Given the description of an element on the screen output the (x, y) to click on. 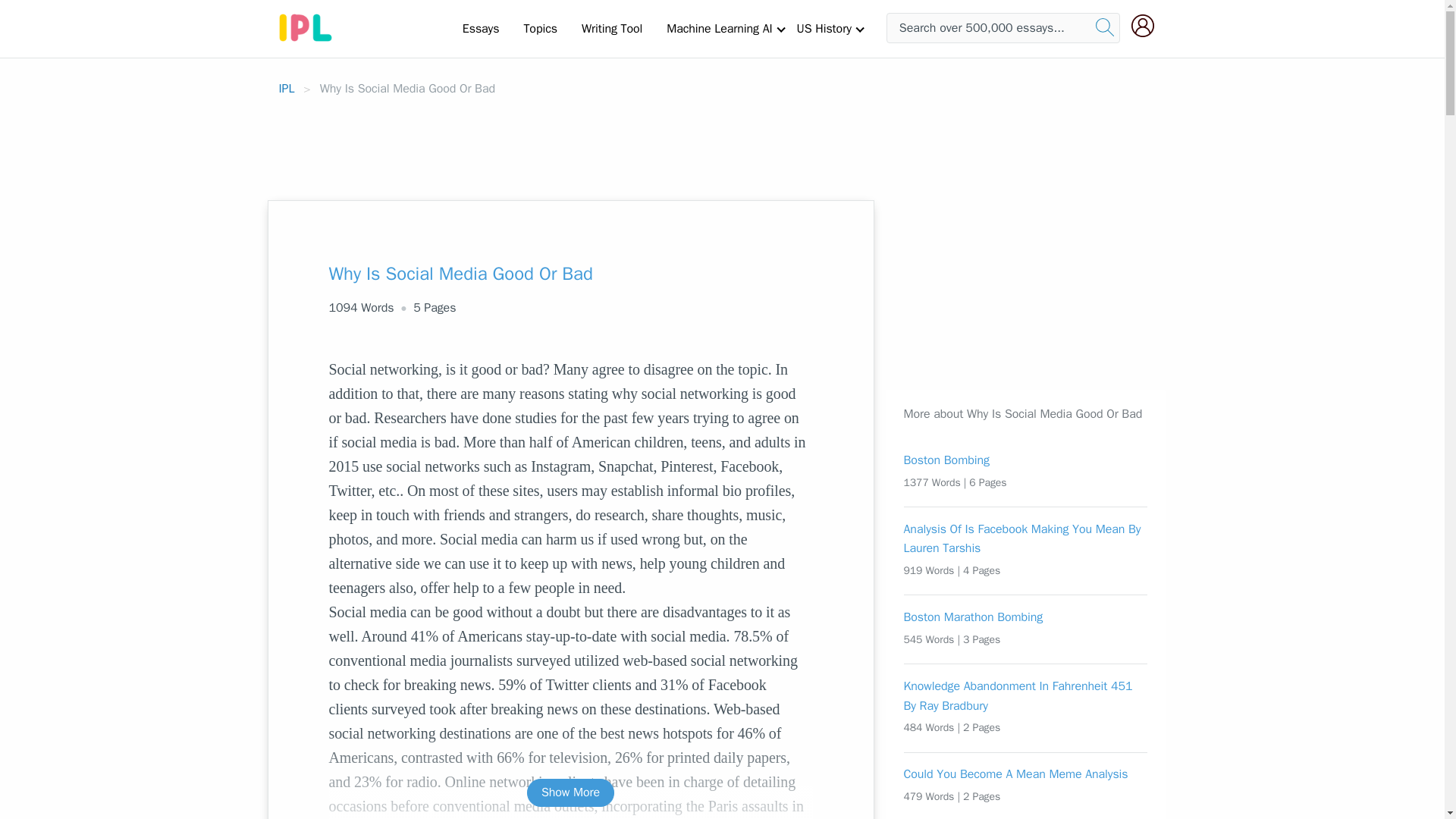
Topics (540, 28)
IPL (287, 88)
US History (823, 28)
Writing Tool (611, 28)
Essays (480, 28)
Machine Learning AI (718, 28)
Show More (570, 792)
